Given the description of an element on the screen output the (x, y) to click on. 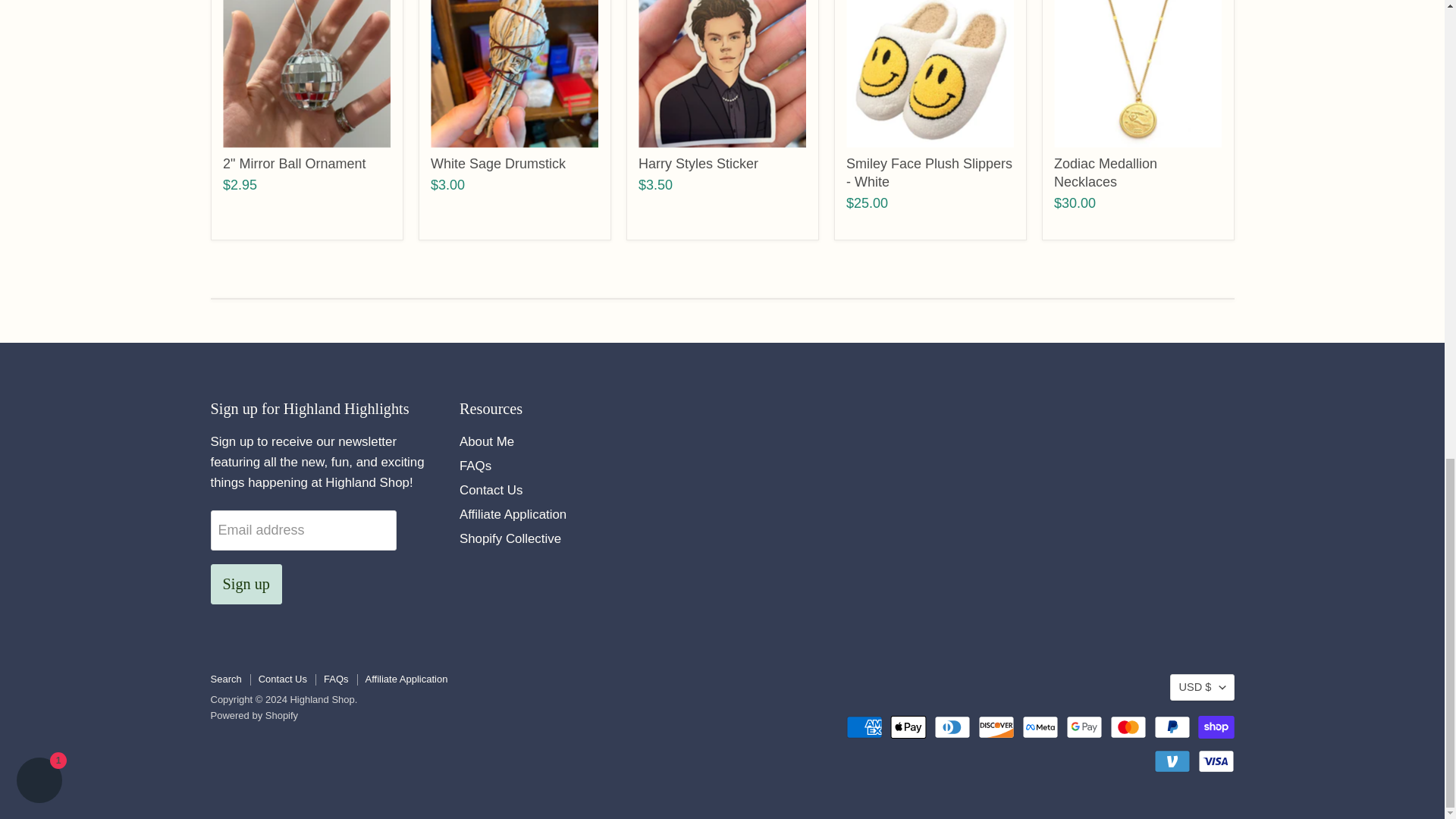
PayPal (1172, 726)
Venmo (1172, 761)
Mastercard (1128, 726)
Shop Pay (1216, 726)
Visa (1216, 761)
Discover (996, 726)
Google Pay (1083, 726)
American Express (863, 726)
Apple Pay (907, 726)
Meta Pay (1040, 726)
Diners Club (952, 726)
